Given the description of an element on the screen output the (x, y) to click on. 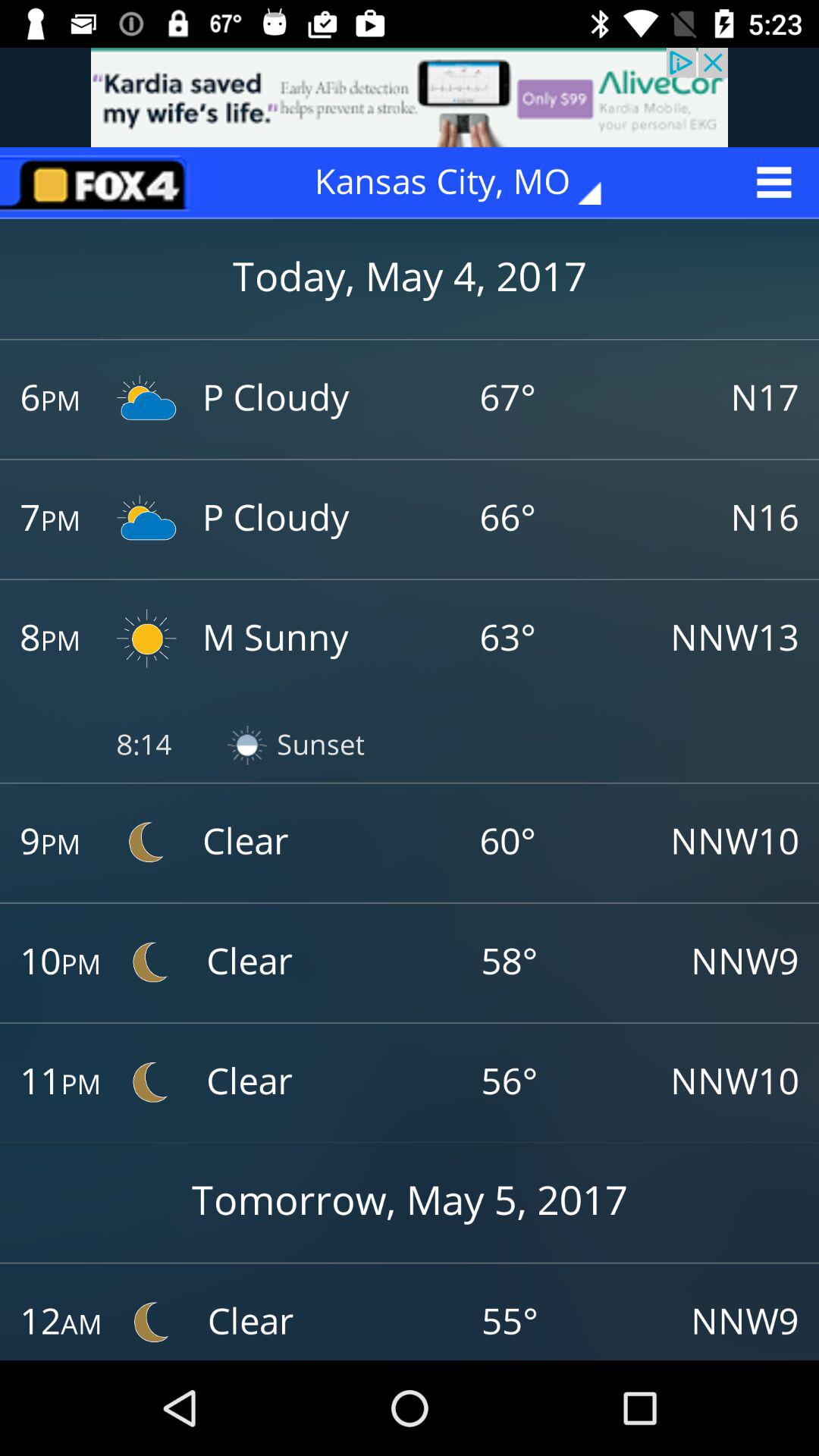
advertisement (409, 97)
